Given the description of an element on the screen output the (x, y) to click on. 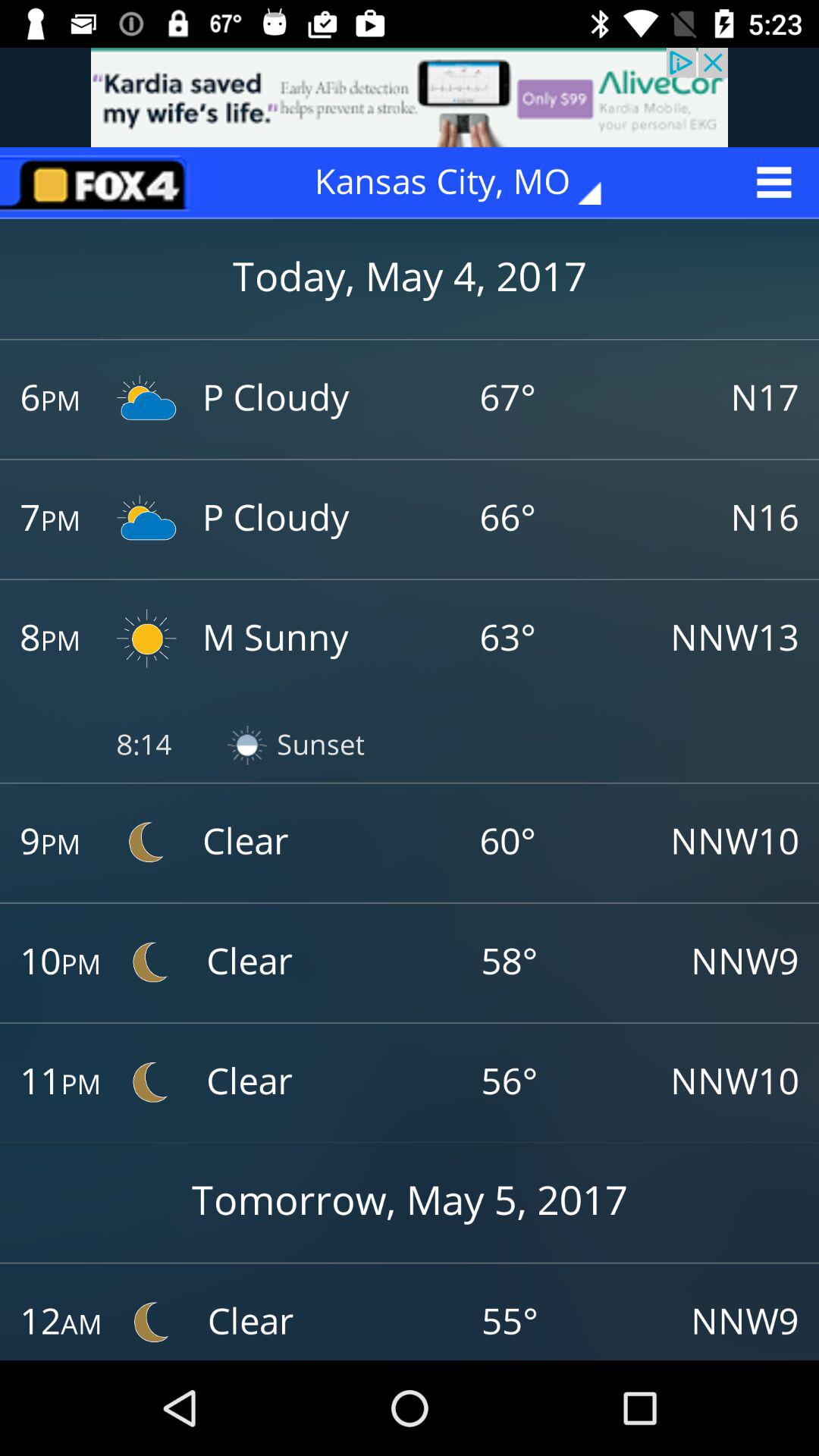
advertisement (409, 97)
